Given the description of an element on the screen output the (x, y) to click on. 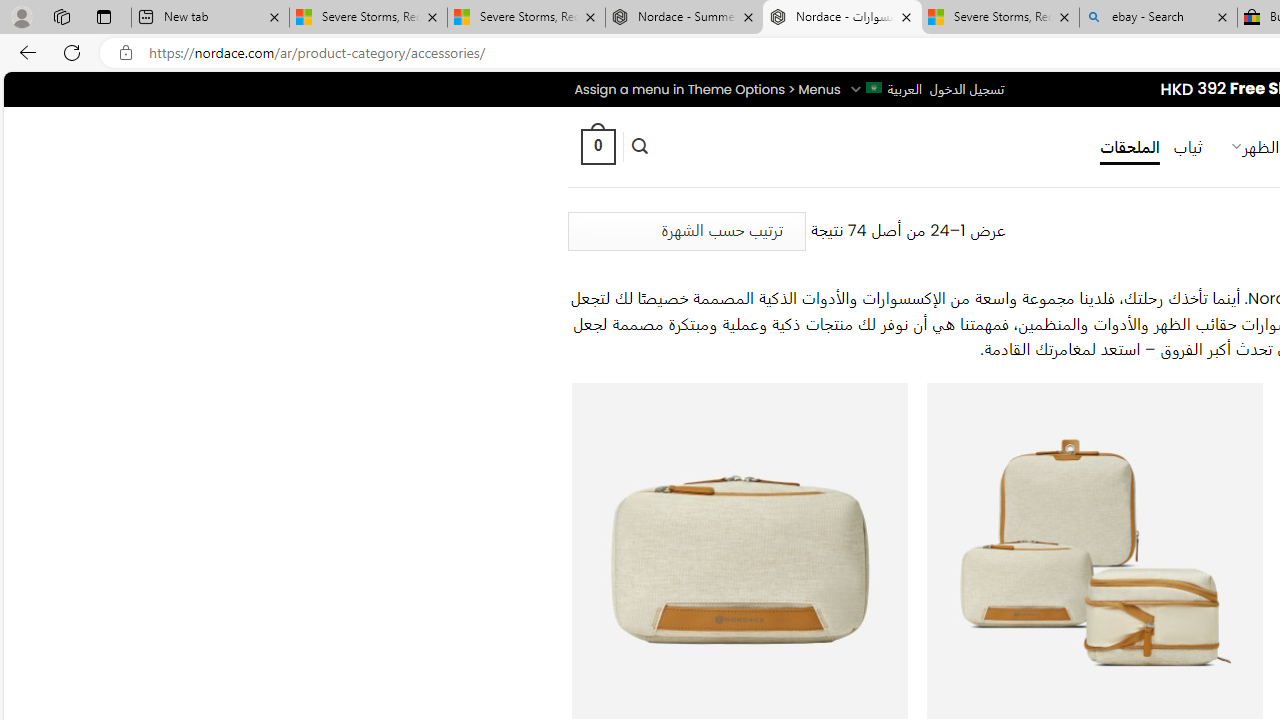
  0   (597, 146)
Assign a menu in Theme Options > Menus (706, 89)
